Given the description of an element on the screen output the (x, y) to click on. 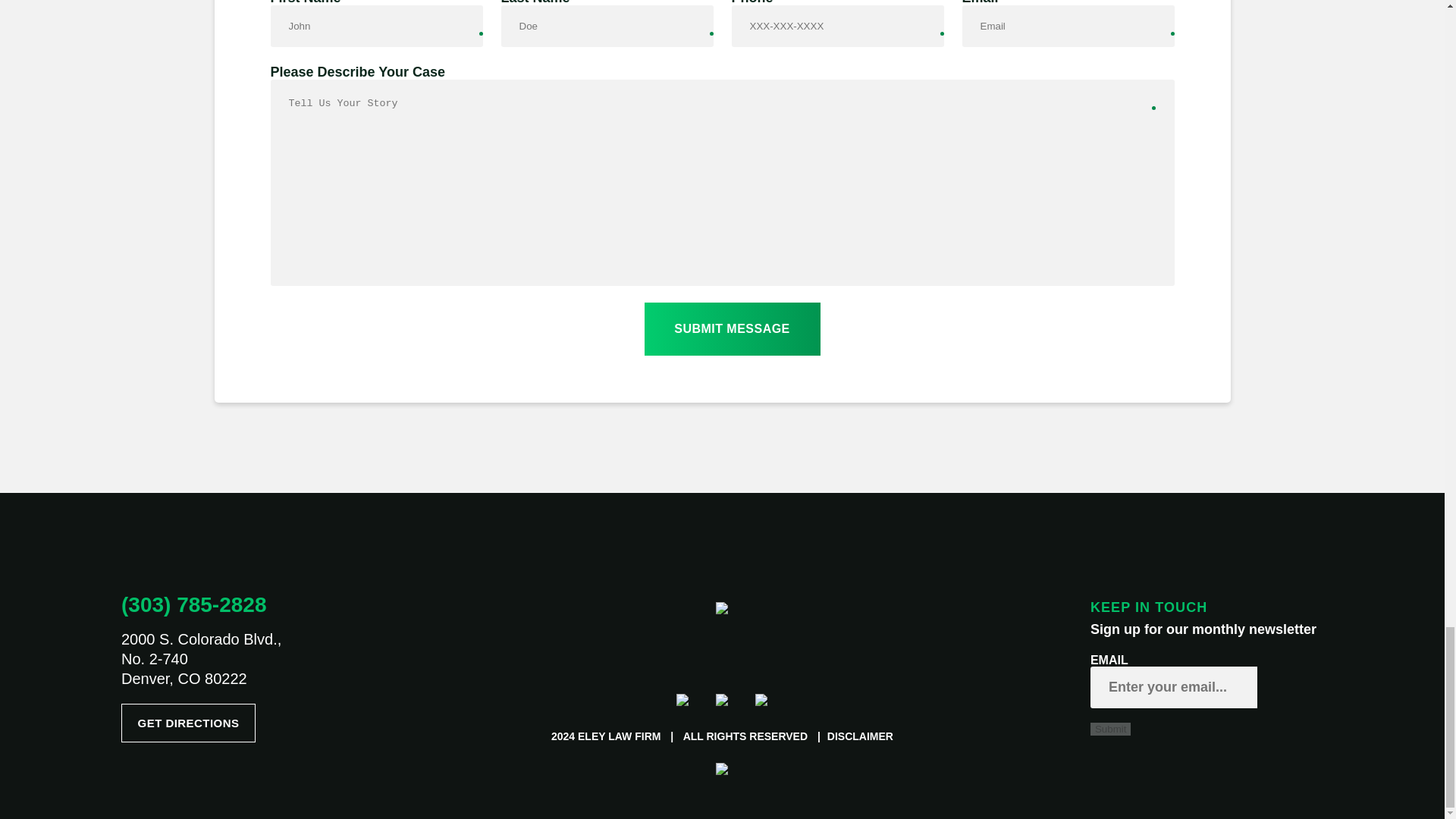
SUBMIT MESSAGE (733, 328)
Submit (1110, 728)
